Given the description of an element on the screen output the (x, y) to click on. 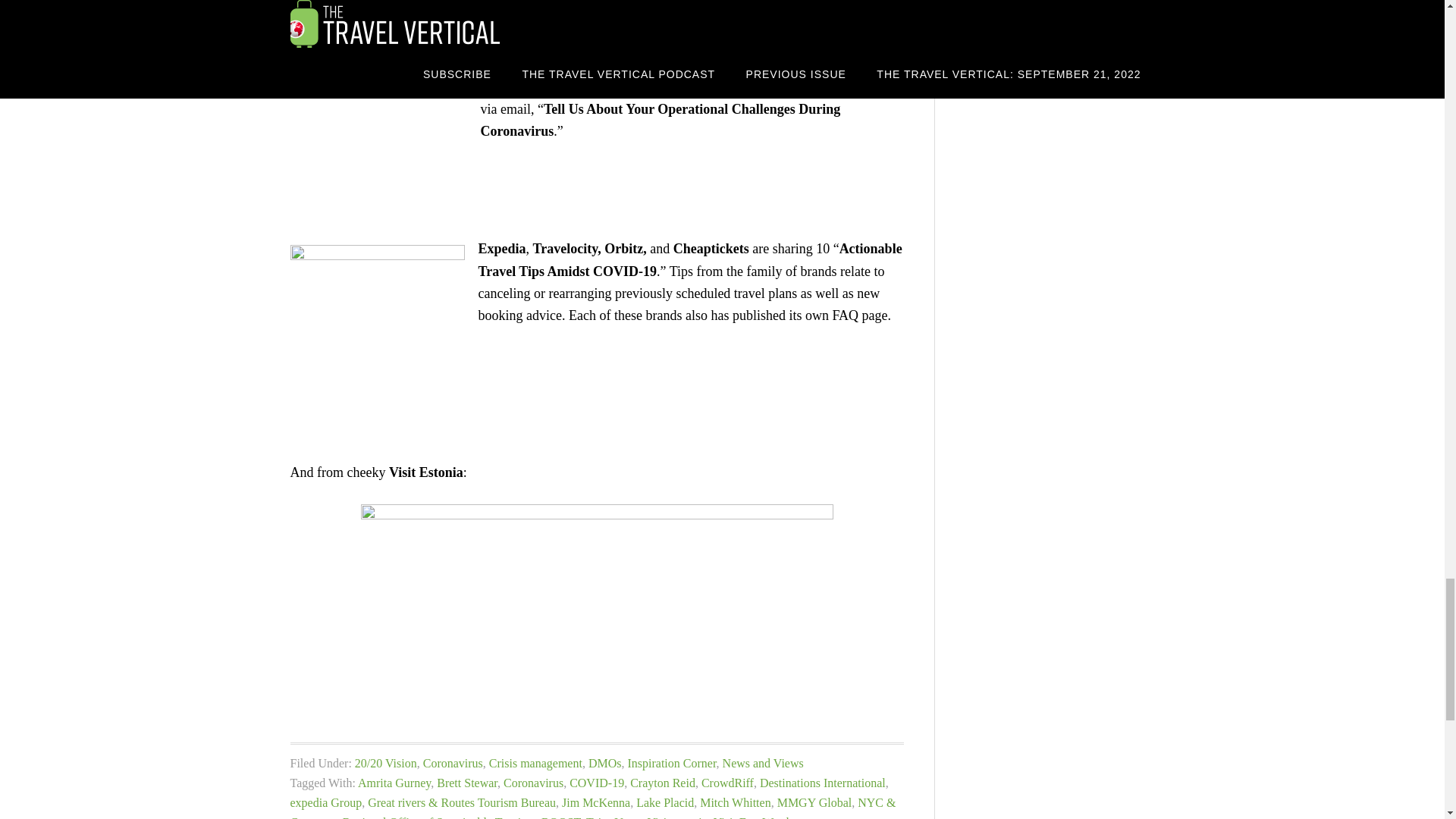
Lake Placid (665, 802)
short survey for DMOs (824, 87)
Destinations International (822, 782)
Crisis management (535, 762)
Regional Office of Sustainable Tourism (438, 817)
MMGY Global (814, 802)
ROOST (560, 817)
Taisa Veras (614, 817)
CrowdRiff (727, 782)
expedia Group (325, 802)
Mitch Whitten (735, 802)
News and Views (762, 762)
Brett Stewar (466, 782)
COVID-19 (596, 782)
Crayton Reid (662, 782)
